Given the description of an element on the screen output the (x, y) to click on. 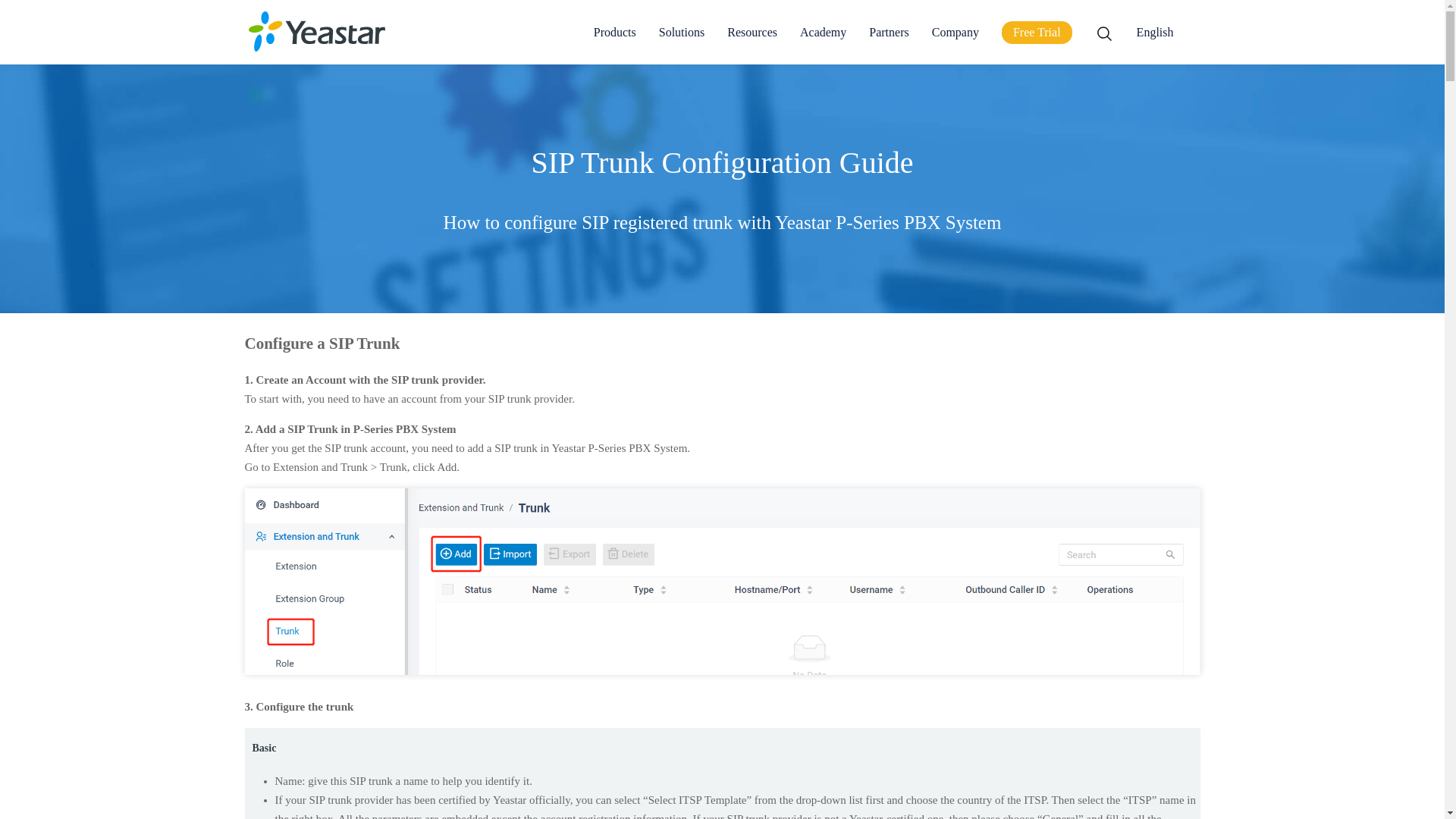
Products (615, 41)
Yeastar (316, 31)
Solutions (681, 41)
